Given the description of an element on the screen output the (x, y) to click on. 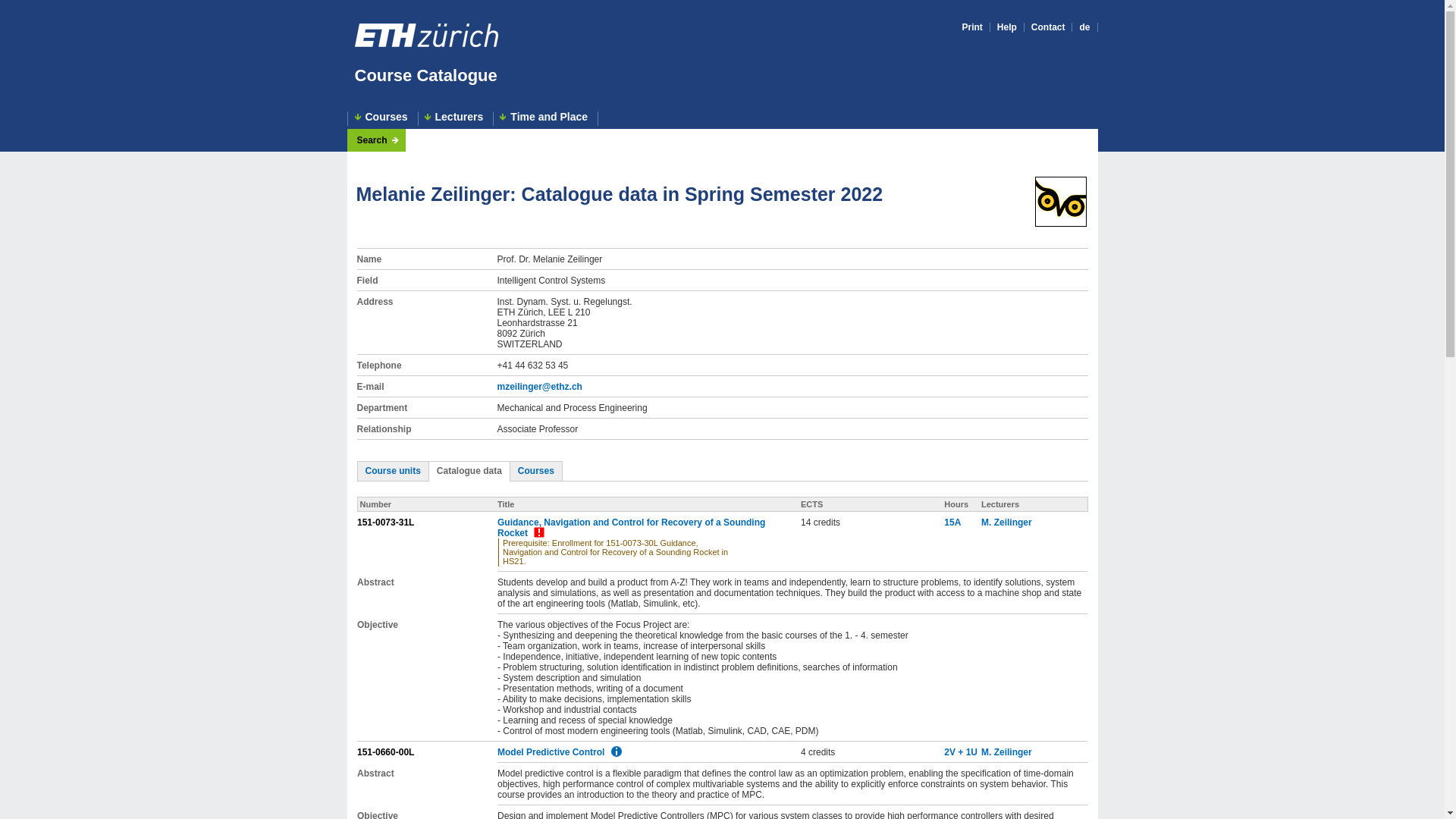
Restricted registration - show details (538, 532)
Contact (1047, 26)
Search (376, 139)
Award: The Golden Owl (1059, 201)
Courses (383, 118)
Information (616, 751)
Model Predictive Control (550, 751)
Print (970, 26)
de (1083, 26)
Courses (536, 470)
M. Zeilinger (1006, 521)
Time and Place (545, 118)
15A (951, 521)
Course Catalogue (426, 75)
M. Zeilinger (1006, 751)
